Given the description of an element on the screen output the (x, y) to click on. 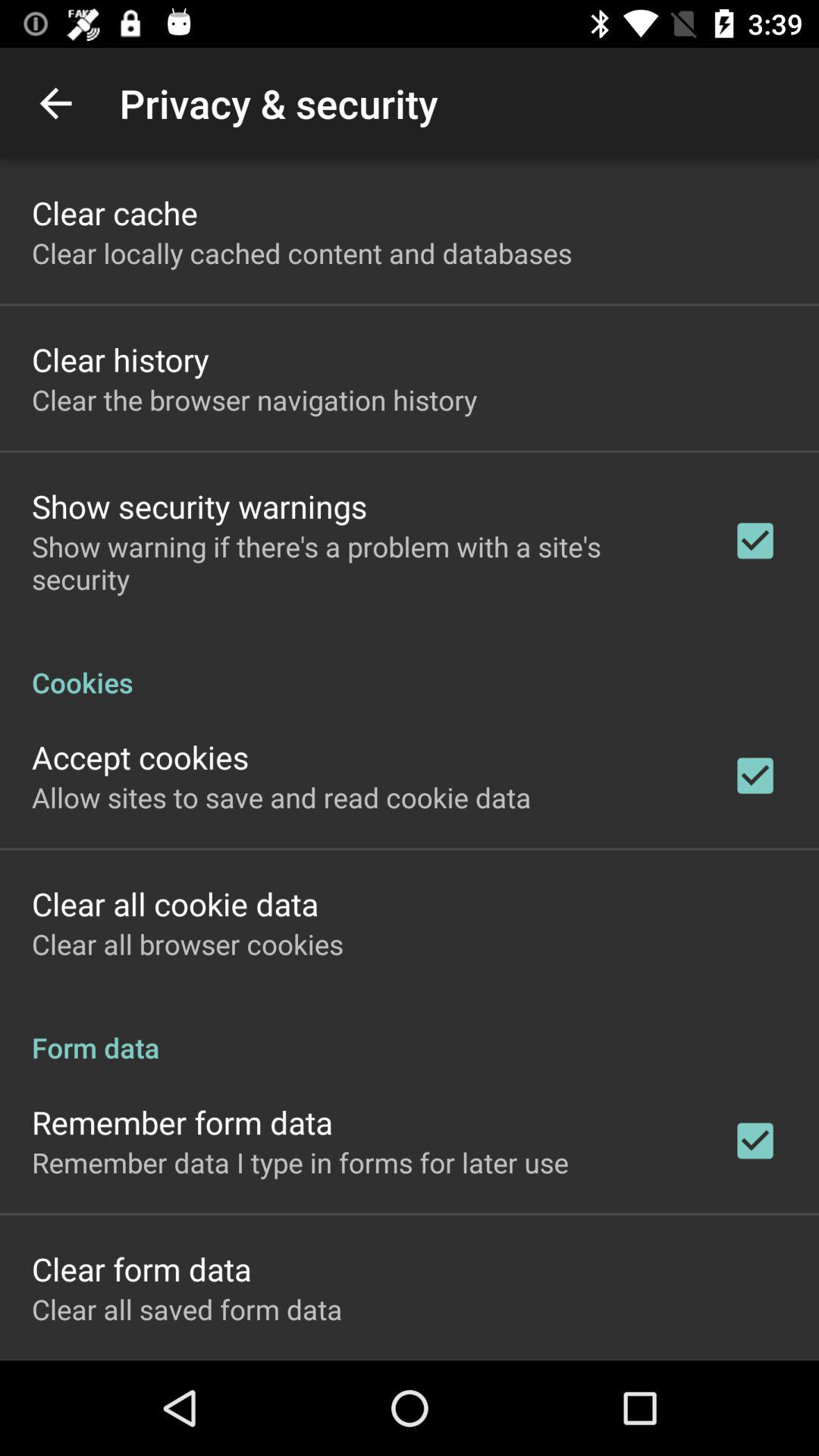
select icon next to the privacy & security icon (55, 103)
